Given the description of an element on the screen output the (x, y) to click on. 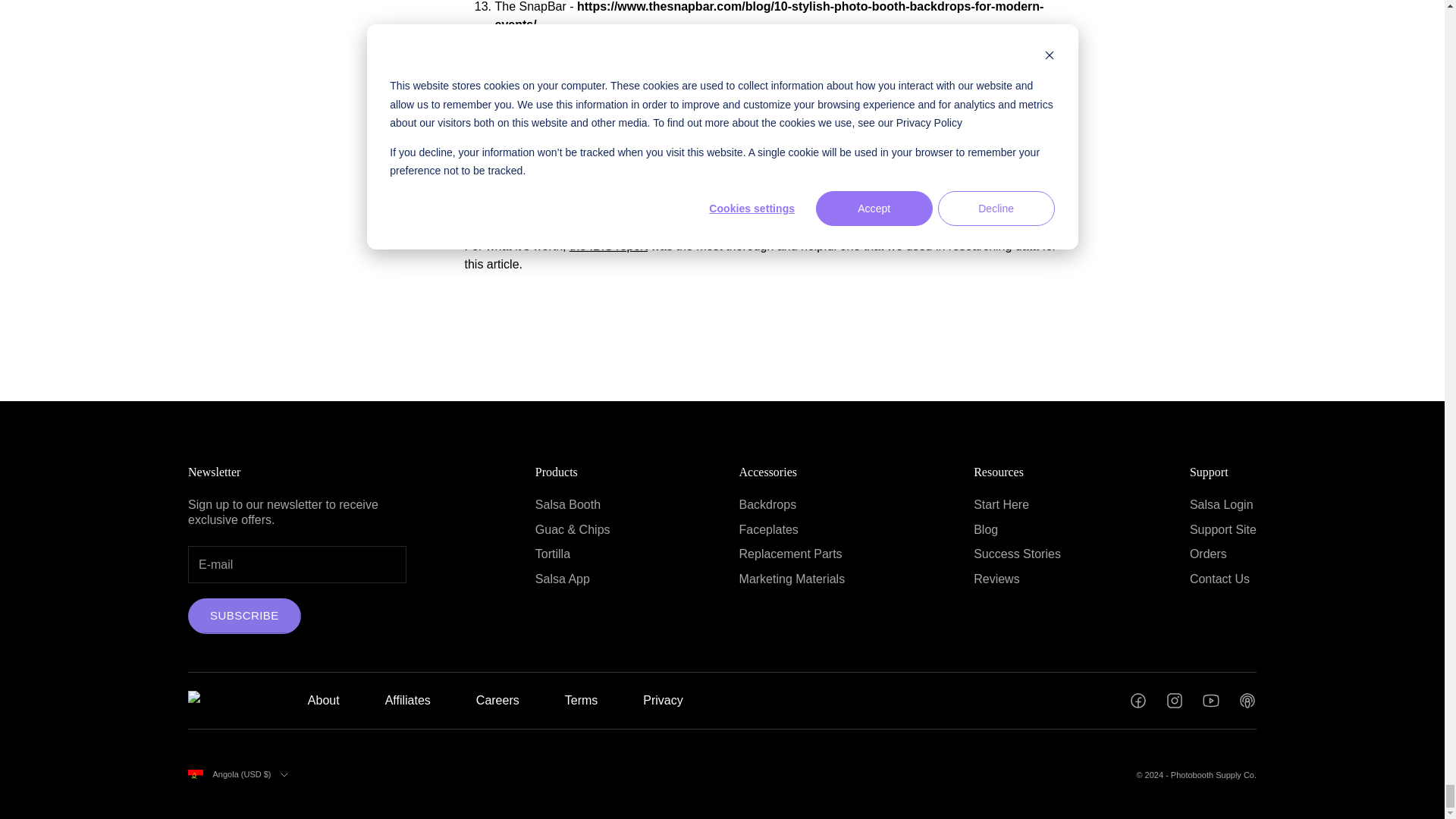
Subscribe (244, 615)
